Given the description of an element on the screen output the (x, y) to click on. 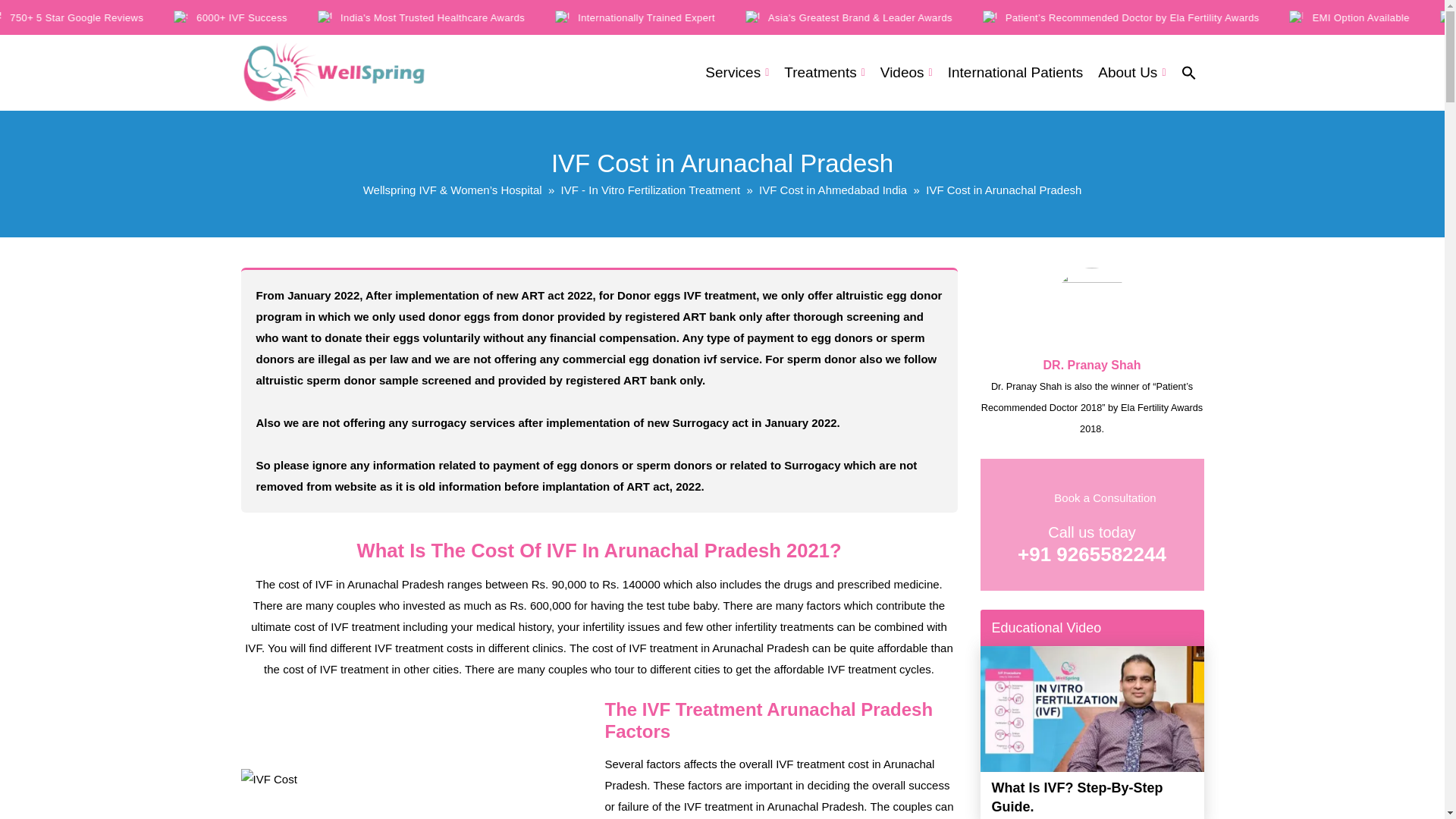
IVF - In Vitro Fertilization Treatment (649, 189)
IVF Cost in Ahmedabad India (832, 189)
